Given the description of an element on the screen output the (x, y) to click on. 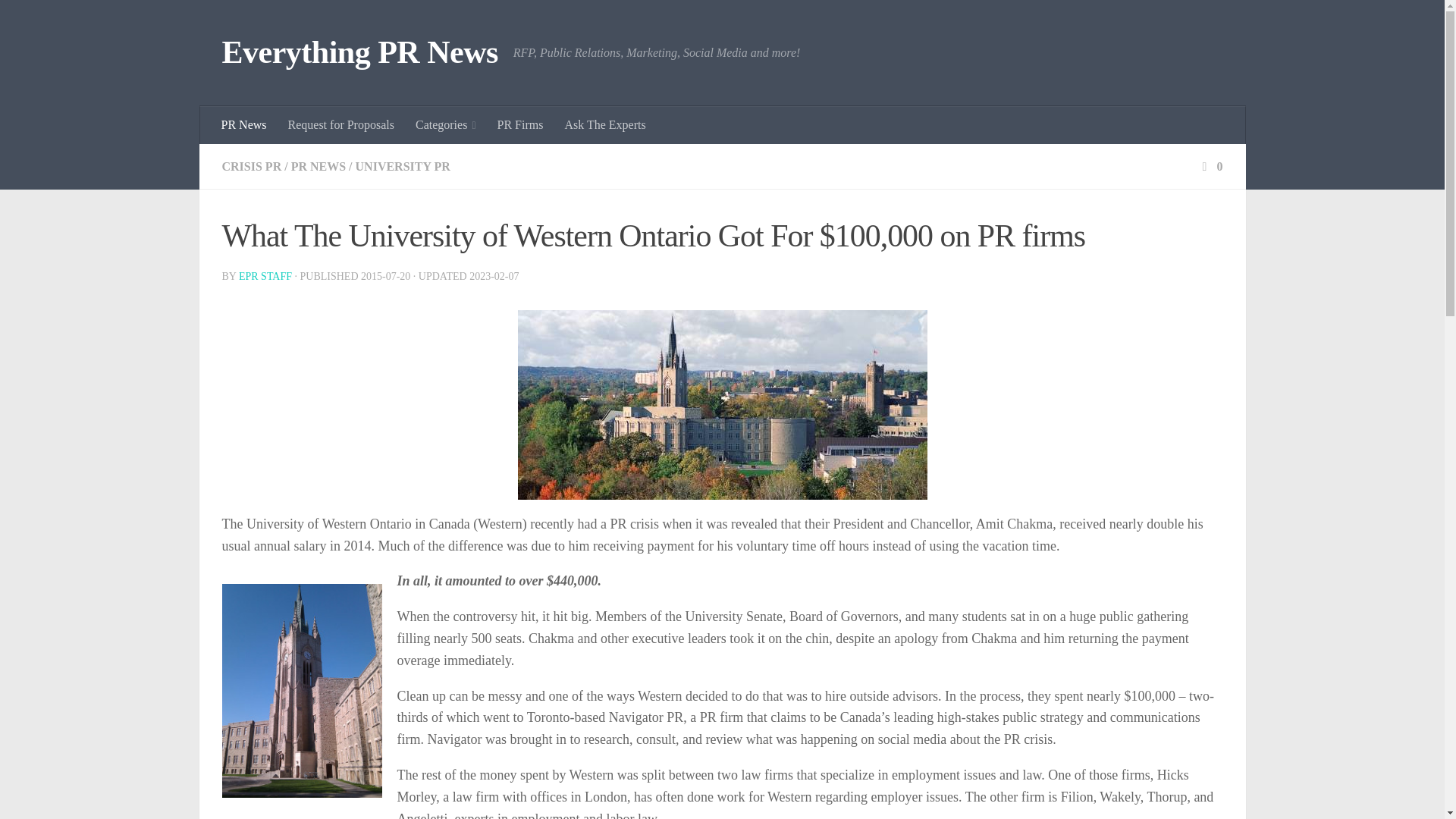
Everything PR News (359, 53)
Categories (445, 125)
PR News (244, 125)
Posts by EPR Staff (265, 276)
Request for Proposals (341, 125)
Skip to content (59, 20)
